Given the description of an element on the screen output the (x, y) to click on. 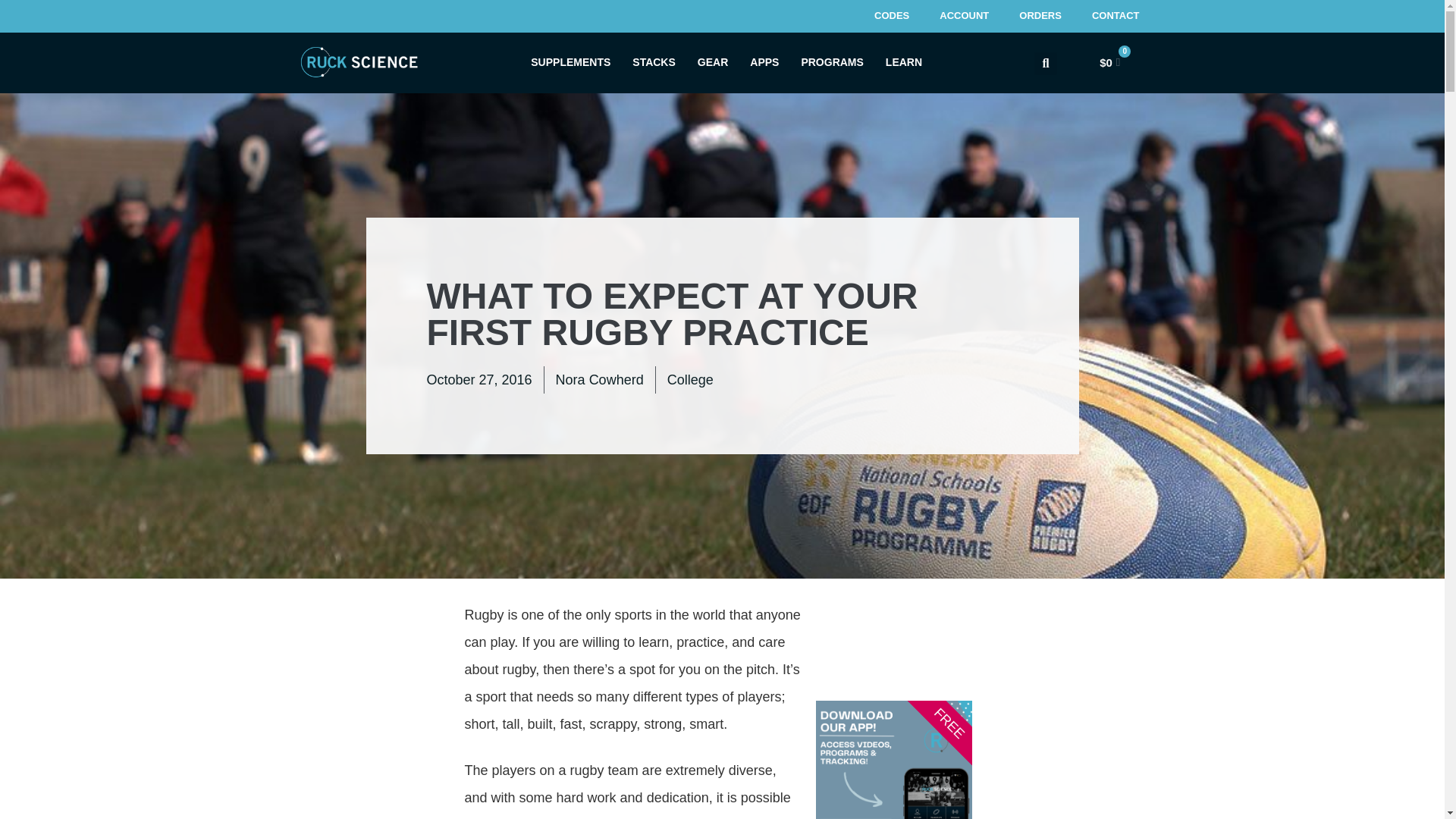
ACCOUNT (964, 16)
STACKS (653, 62)
ORDERS (1040, 16)
CONTACT (1115, 16)
PROGRAMS (831, 62)
SUPPLEMENTS (570, 62)
LEARN (903, 62)
CODES (891, 16)
College (689, 378)
